Given the description of an element on the screen output the (x, y) to click on. 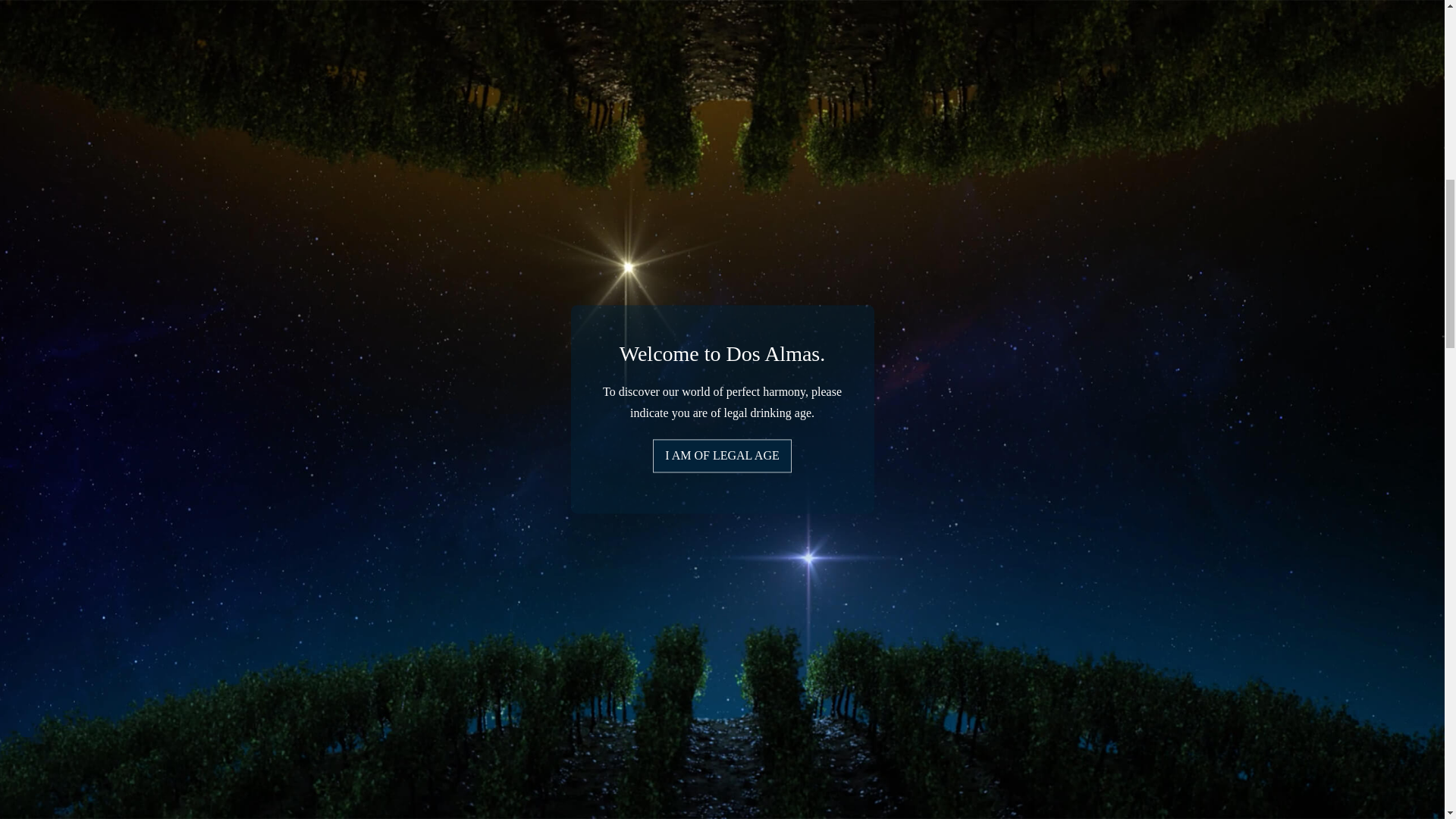
August 2024 (31, 731)
Search (234, 446)
Hello world! (172, 661)
Uncategorized (82, 285)
1xbet Mobile Yukle, 1xbet Proqrami Yuklemek (114, 522)
Search (234, 446)
A WordPress Commenter (61, 661)
Online casino (33, 355)
Search (234, 446)
